Given the description of an element on the screen output the (x, y) to click on. 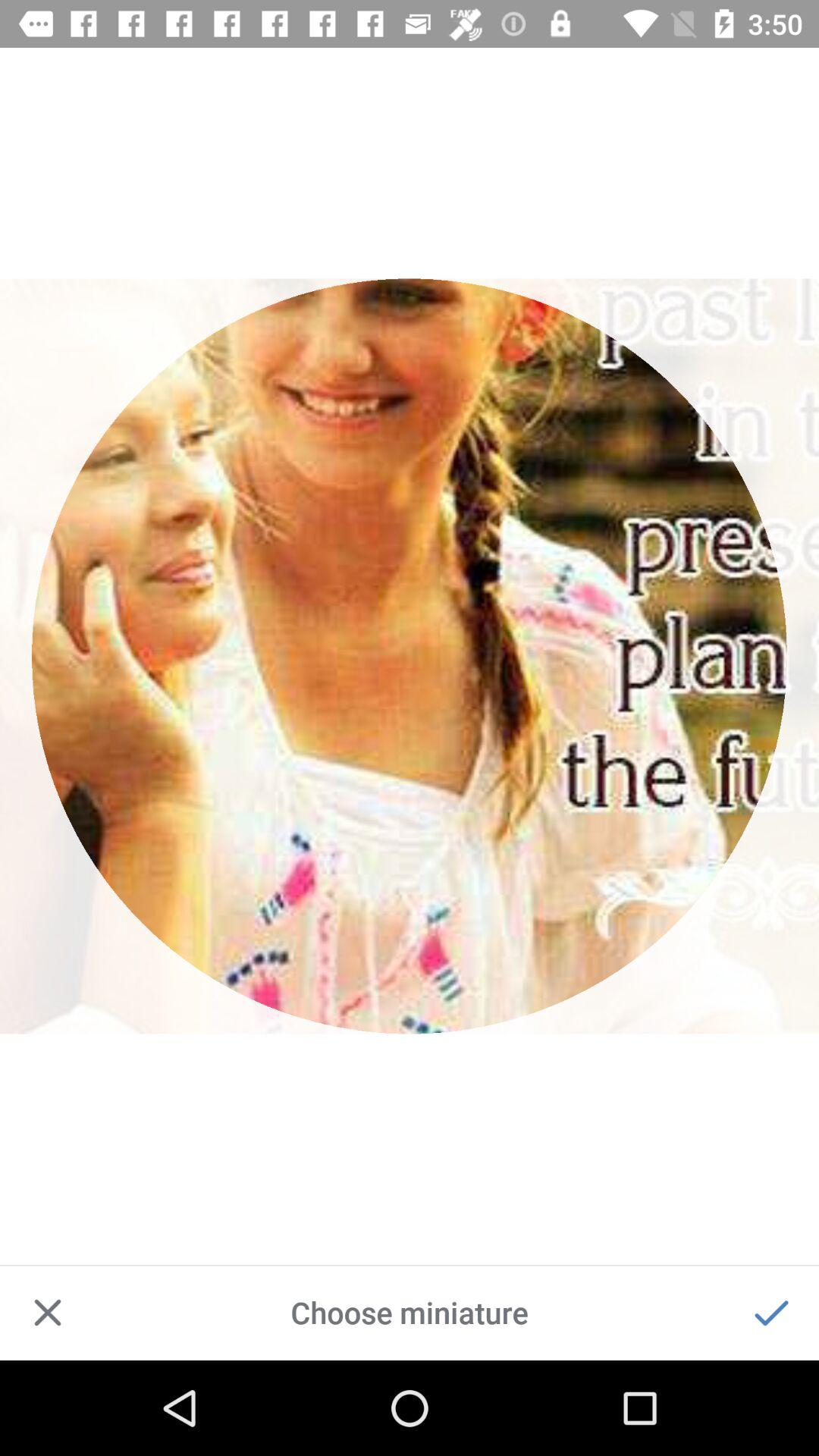
turn on the item at the bottom right corner (771, 1312)
